Given the description of an element on the screen output the (x, y) to click on. 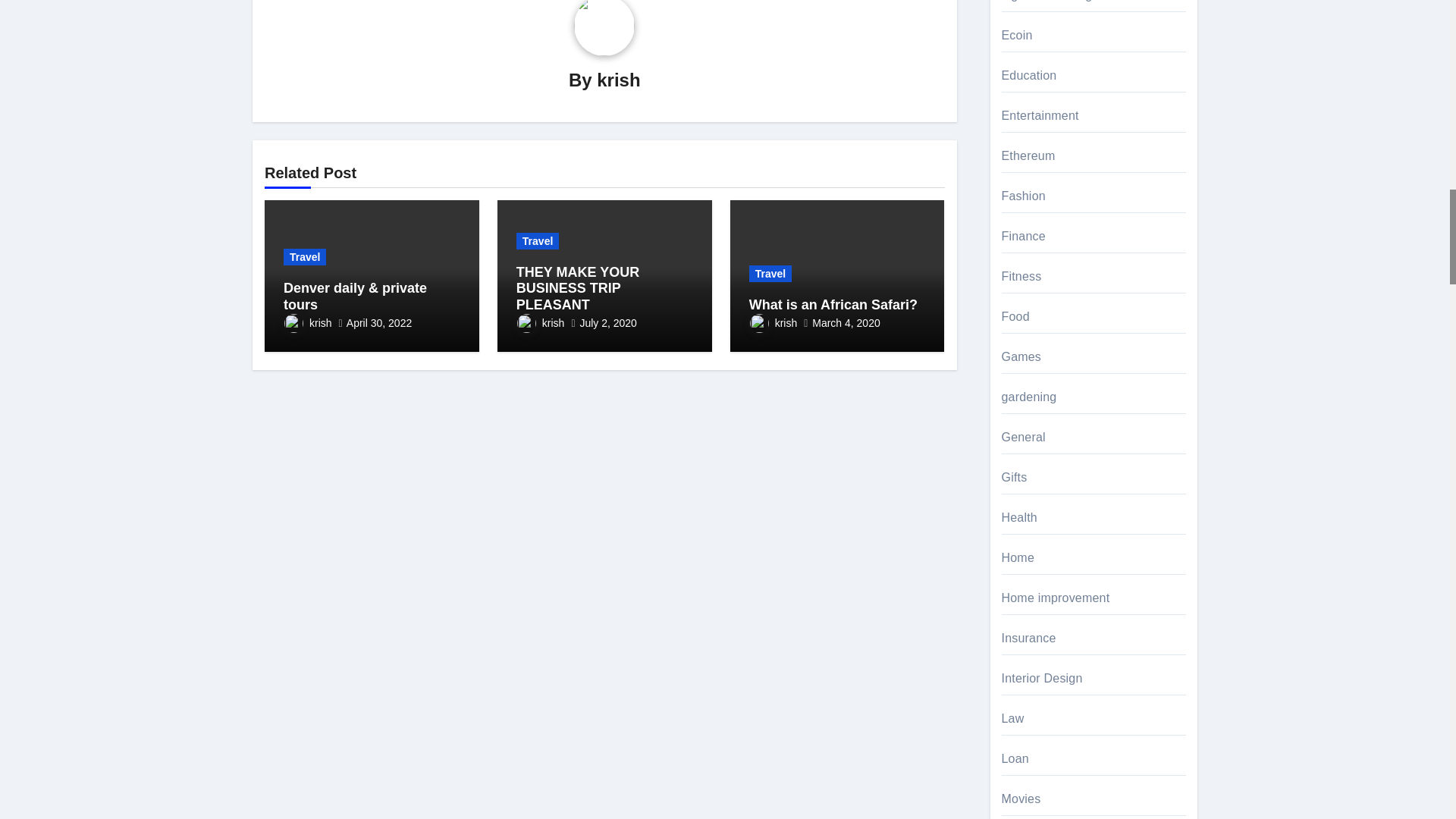
krish (618, 79)
Permalink to: THEY MAKE YOUR BUSINESS TRIP PLEASANT (577, 288)
krish (307, 322)
Travel (304, 256)
Permalink to: What is an African Safari? (833, 304)
